Given the description of an element on the screen output the (x, y) to click on. 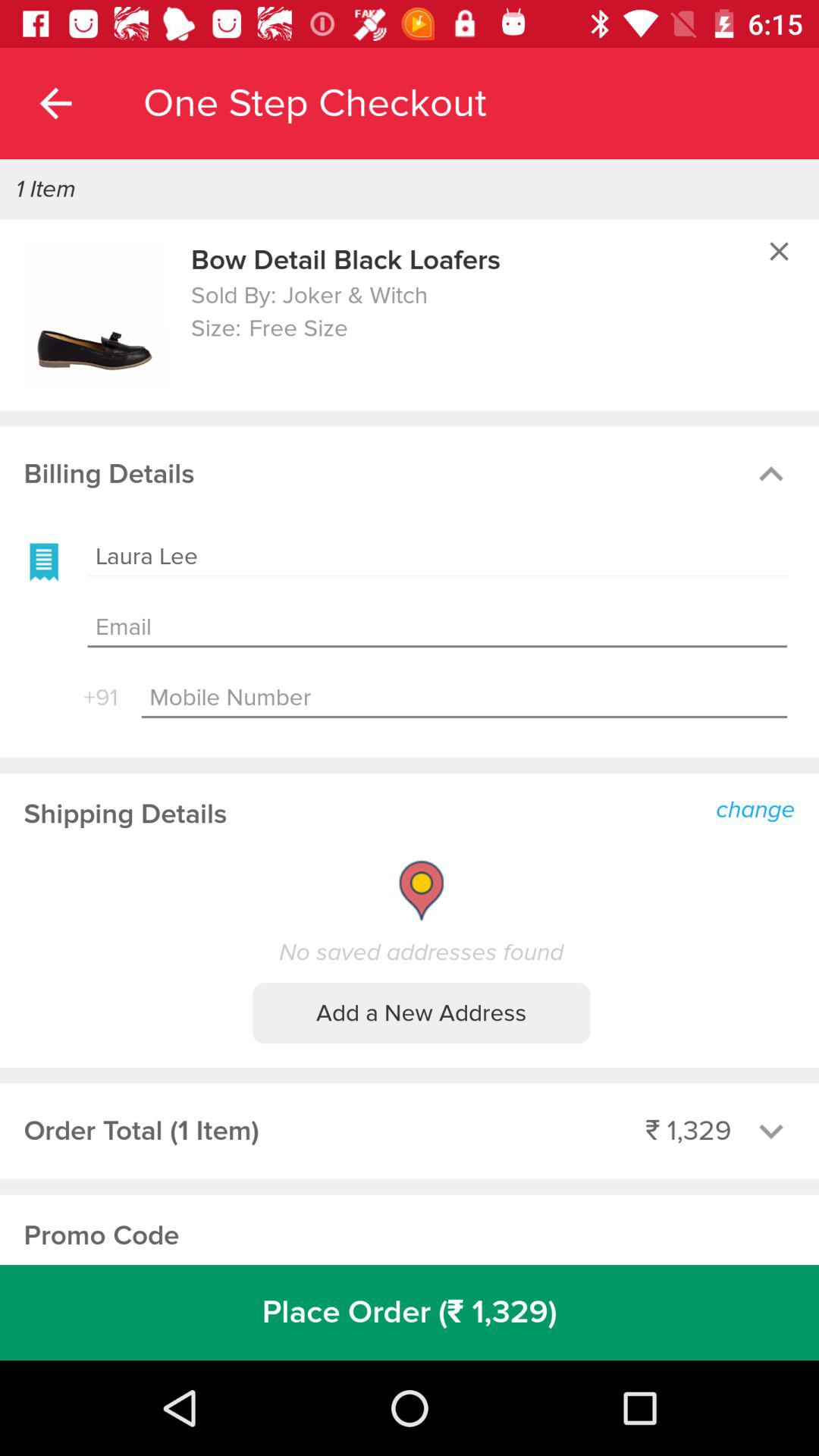
click item above 1 item icon (55, 103)
